Given the description of an element on the screen output the (x, y) to click on. 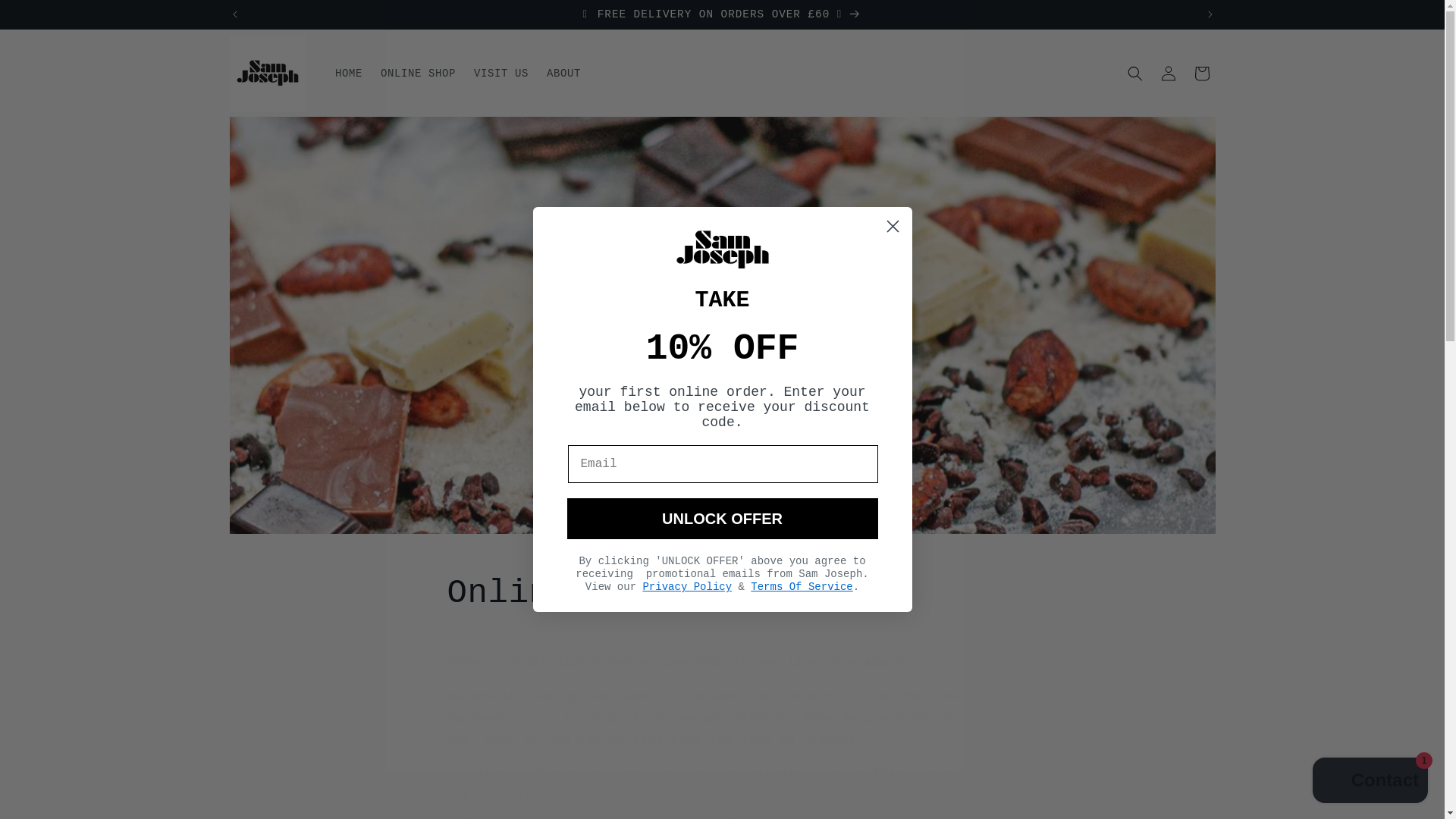
Cart (1201, 73)
Online shop re launch (721, 592)
VISIT US (500, 73)
Shopify online store chat (1369, 781)
HOME (348, 73)
ABOUT (563, 73)
ONLINE SHOP (417, 73)
Skip to content (45, 17)
Log in (1168, 73)
